Given the description of an element on the screen output the (x, y) to click on. 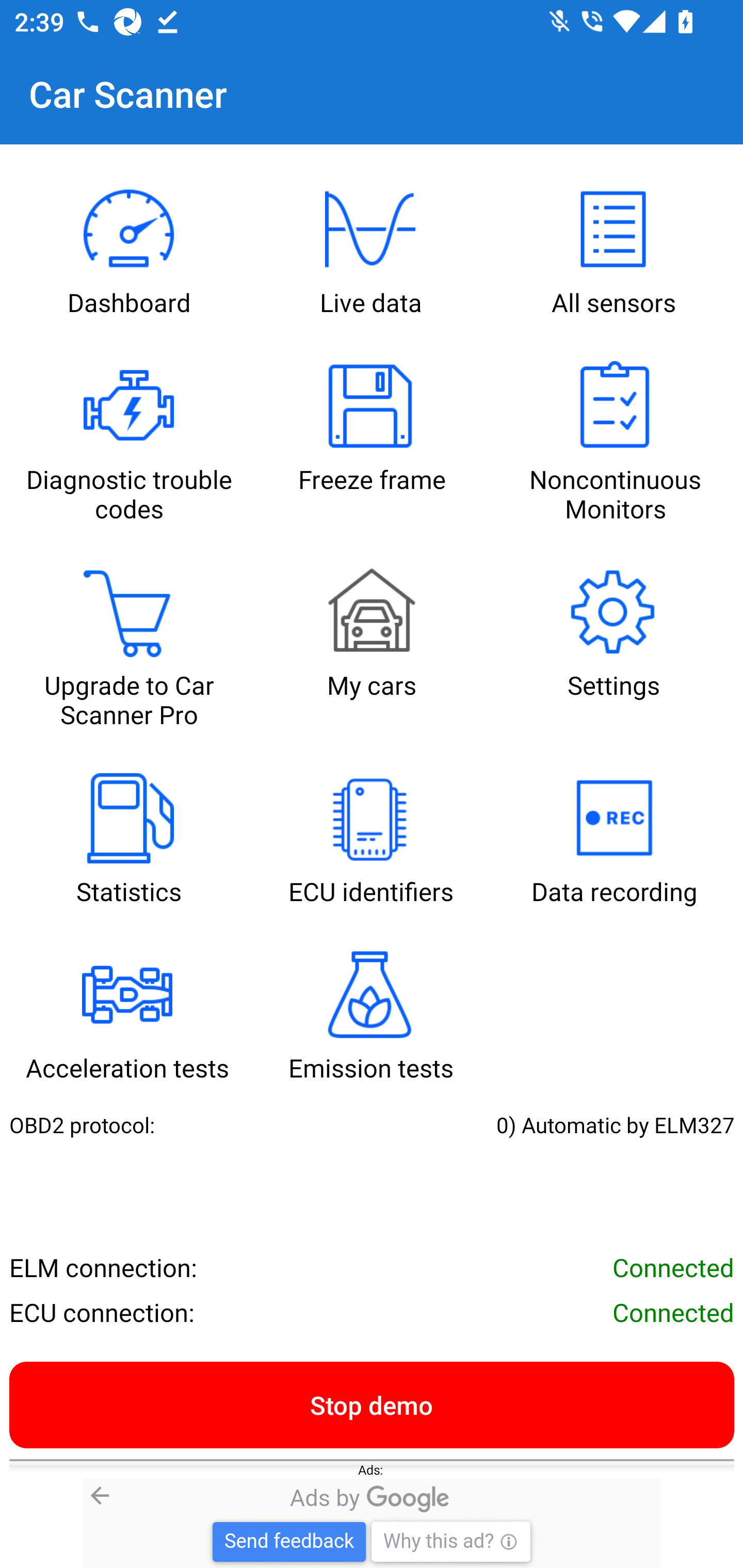
Stop demo (371, 1404)
